Given the description of an element on the screen output the (x, y) to click on. 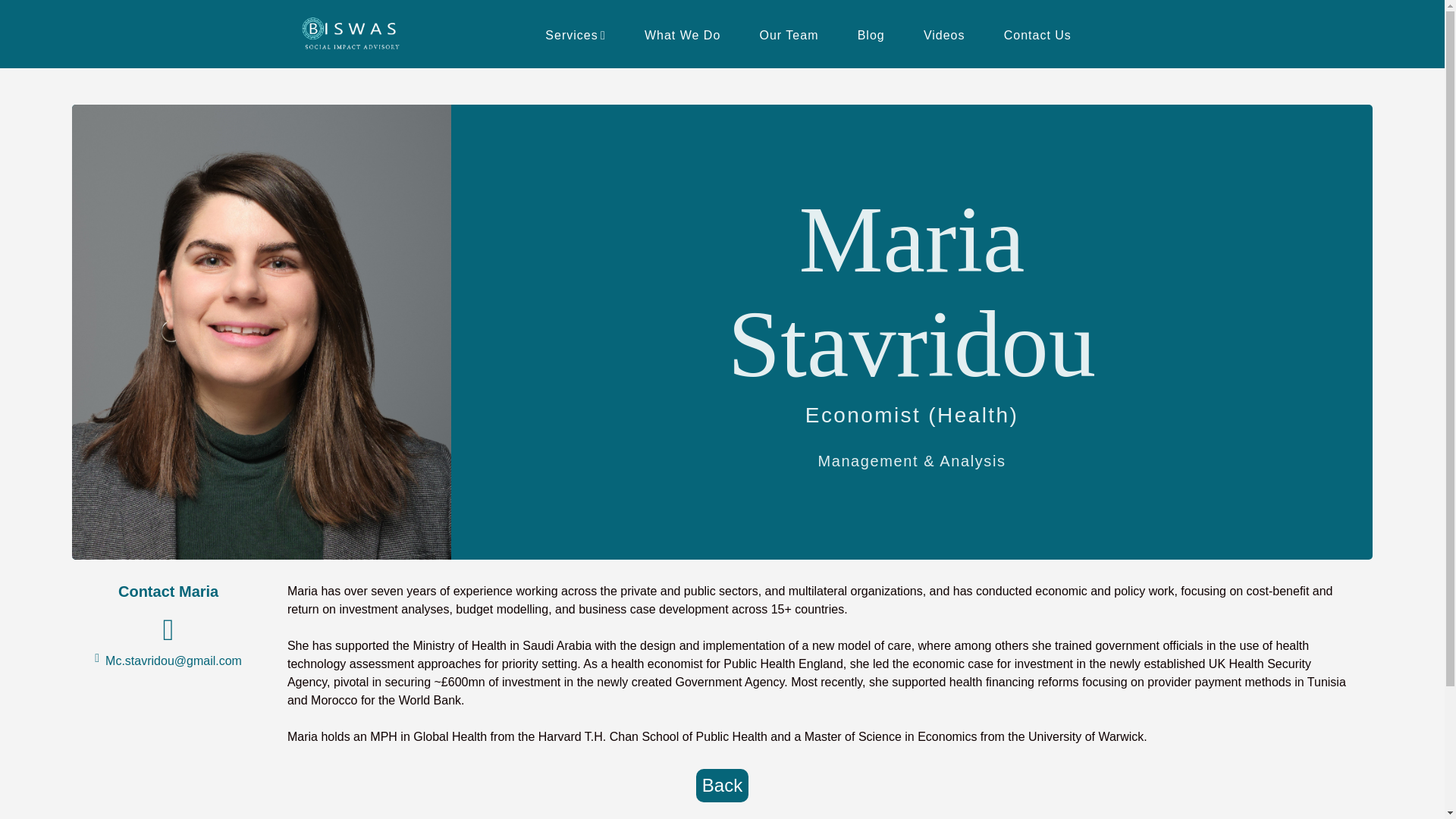
Our Team (788, 35)
Videos (943, 35)
Back (721, 785)
What We Do (682, 35)
Blog (870, 35)
Contact Us (1036, 35)
Services (575, 35)
